Given the description of an element on the screen output the (x, y) to click on. 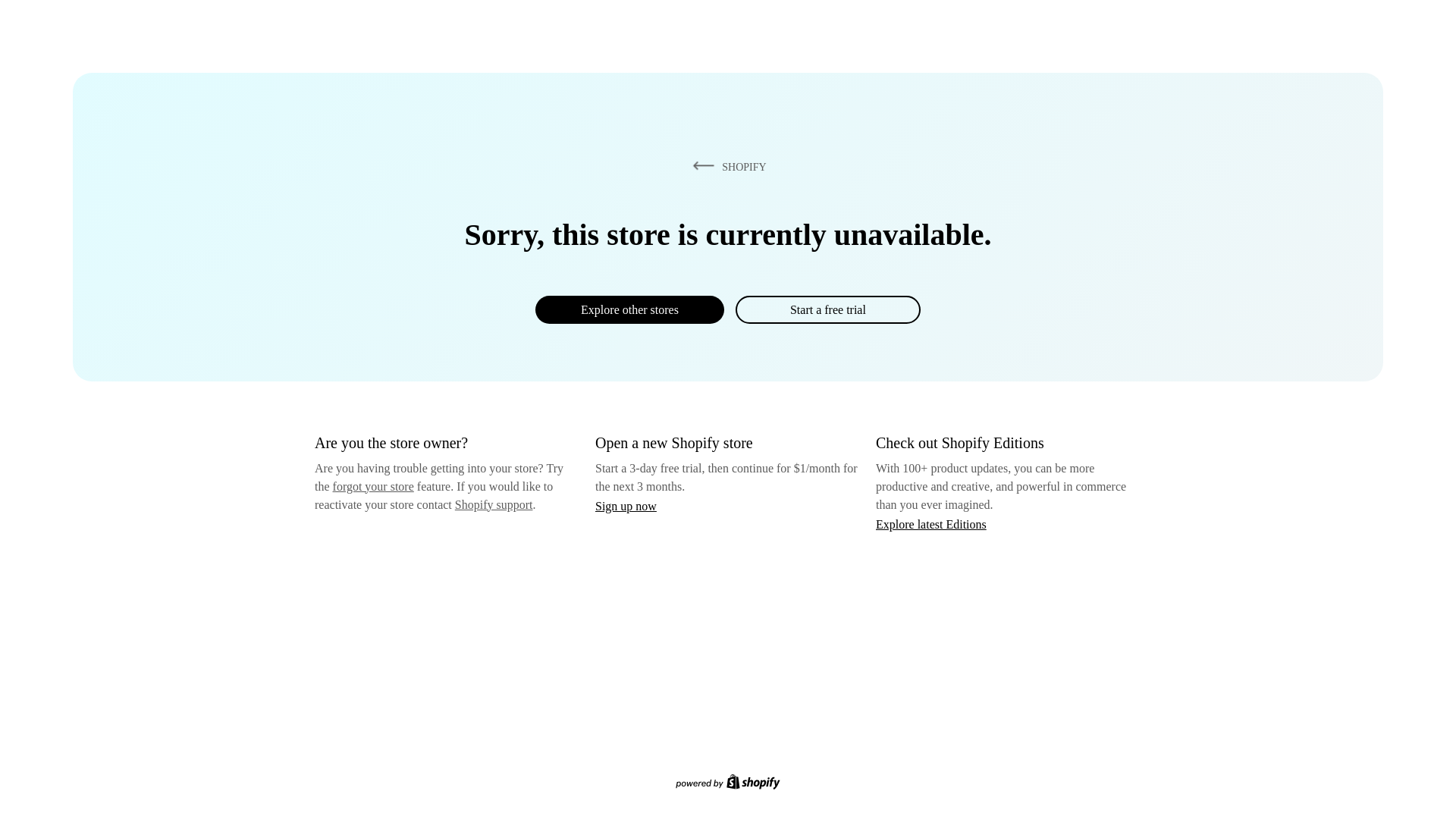
Start a free trial (827, 309)
forgot your store (373, 486)
Sign up now (625, 505)
SHOPIFY (726, 166)
Shopify support (493, 504)
Explore other stores (629, 309)
Explore latest Editions (931, 523)
